Given the description of an element on the screen output the (x, y) to click on. 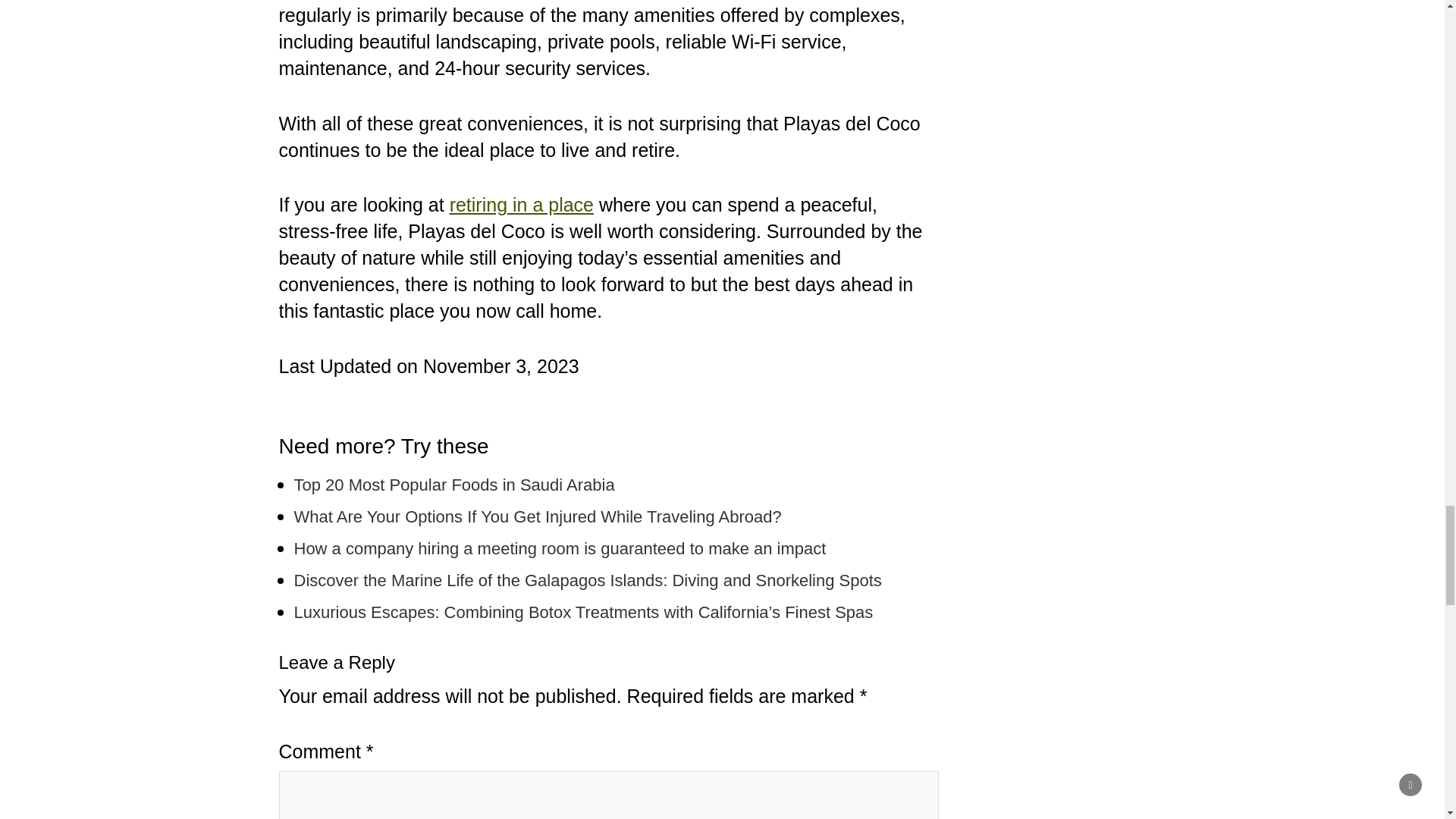
Top 20 Most Popular Foods in Saudi Arabia (454, 484)
